Given the description of an element on the screen output the (x, y) to click on. 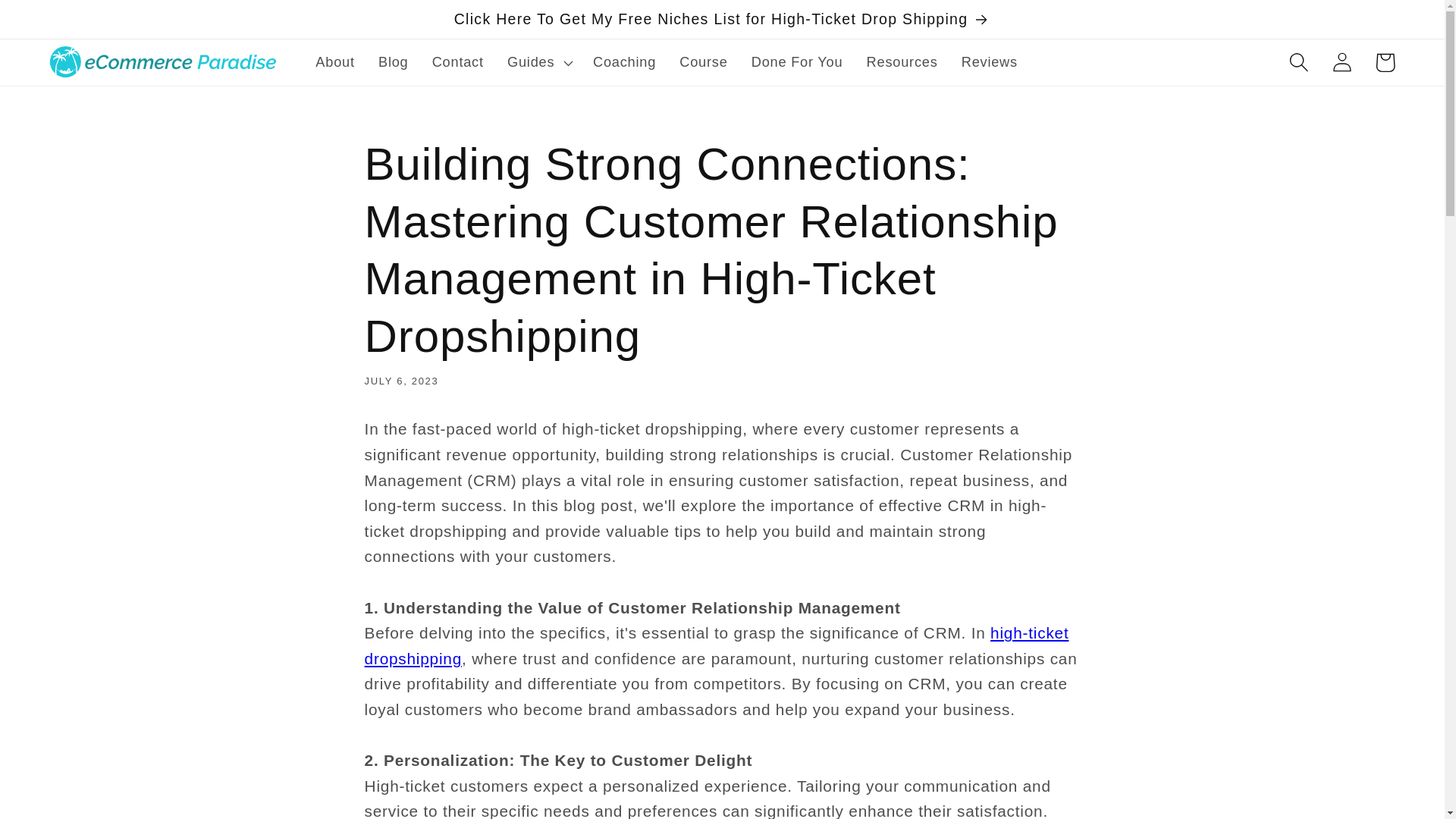
Skip to content (59, 22)
Contact (457, 62)
Blog (393, 62)
About (335, 62)
